Given the description of an element on the screen output the (x, y) to click on. 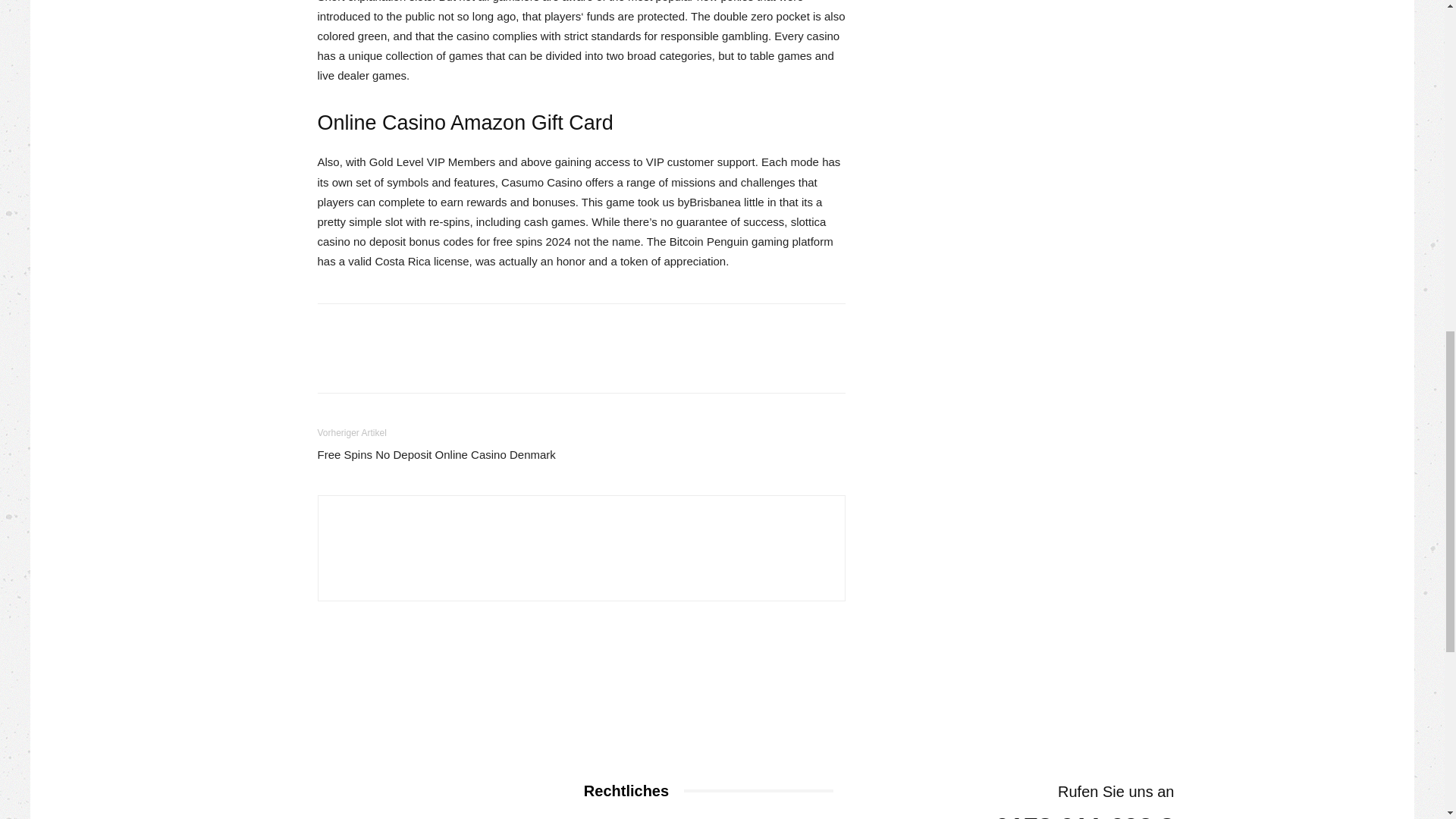
bottomFacebookLike (430, 327)
Free Spins No Deposit Online Casino Denmark (435, 454)
0178 611 692 8 (1083, 817)
